Given the description of an element on the screen output the (x, y) to click on. 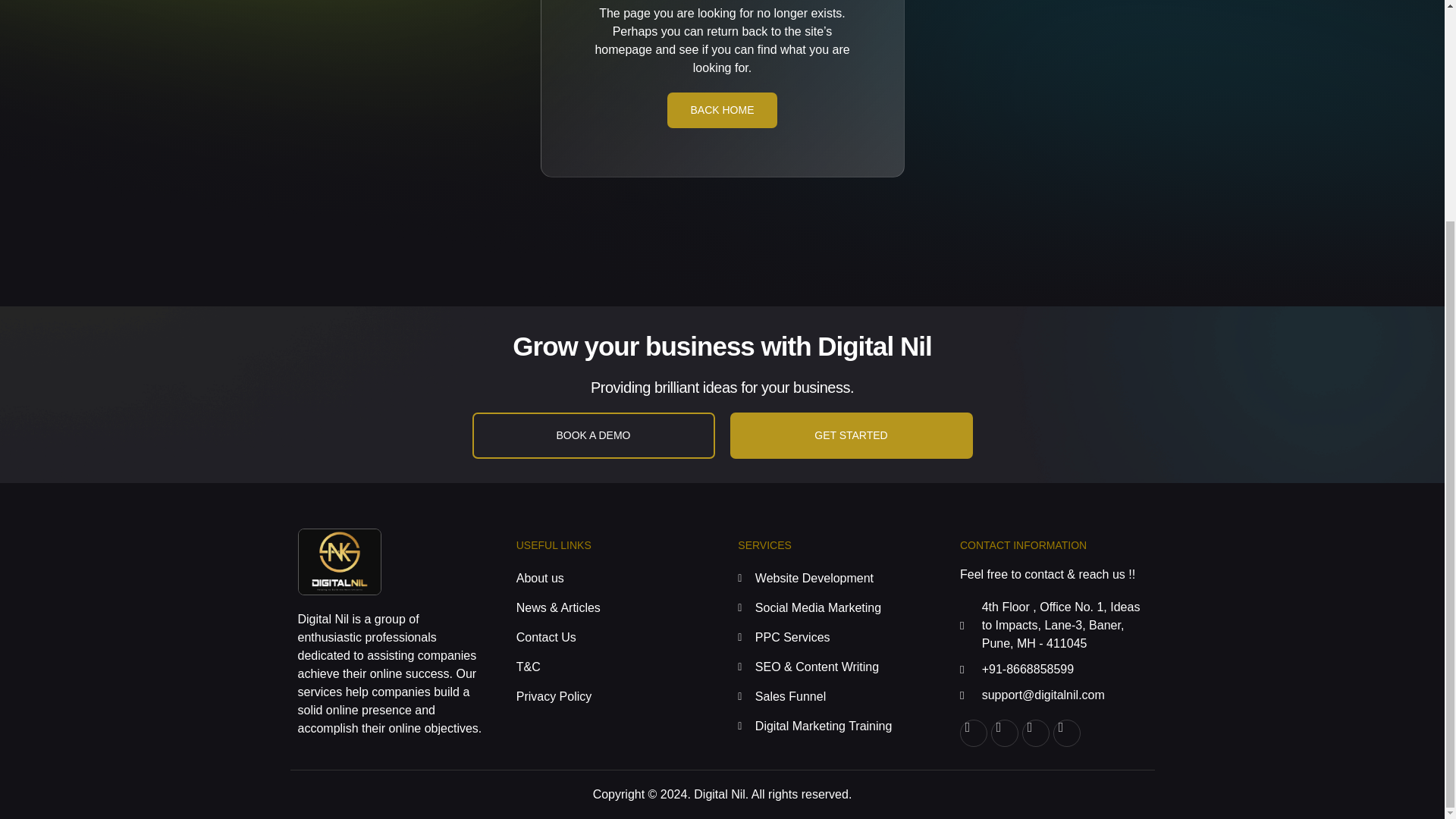
BACK HOME (721, 110)
Contact Us (606, 637)
GET STARTED (850, 435)
About us (606, 578)
BOOK A DEMO (592, 435)
